Given the description of an element on the screen output the (x, y) to click on. 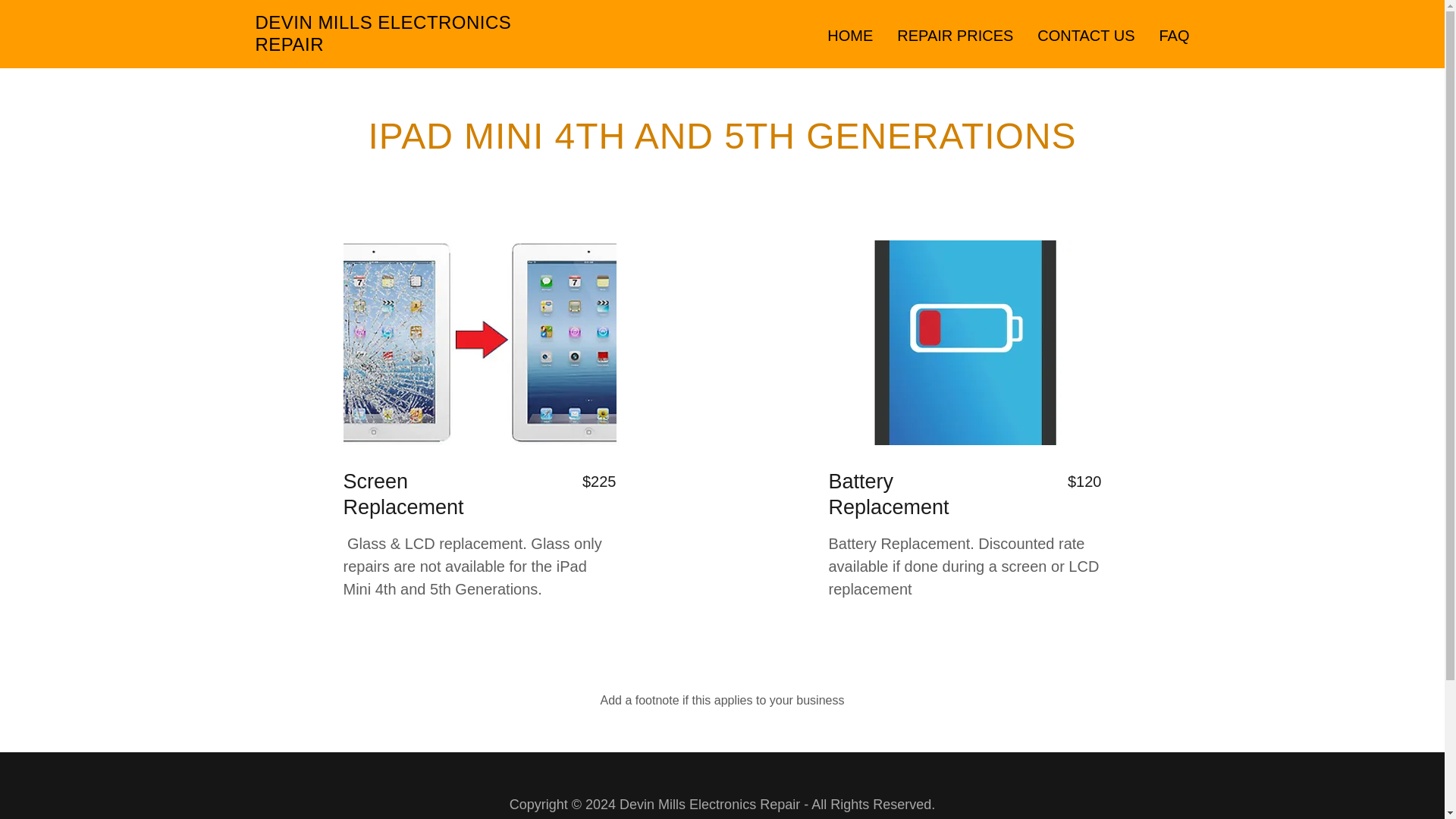
DEVIN MILLS ELECTRONICS REPAIR (417, 45)
REPAIR PRICES (954, 35)
CONTACT US (1085, 35)
Devin Mills Electronics Repair (417, 45)
FAQ (1173, 35)
HOME (849, 35)
